Given the description of an element on the screen output the (x, y) to click on. 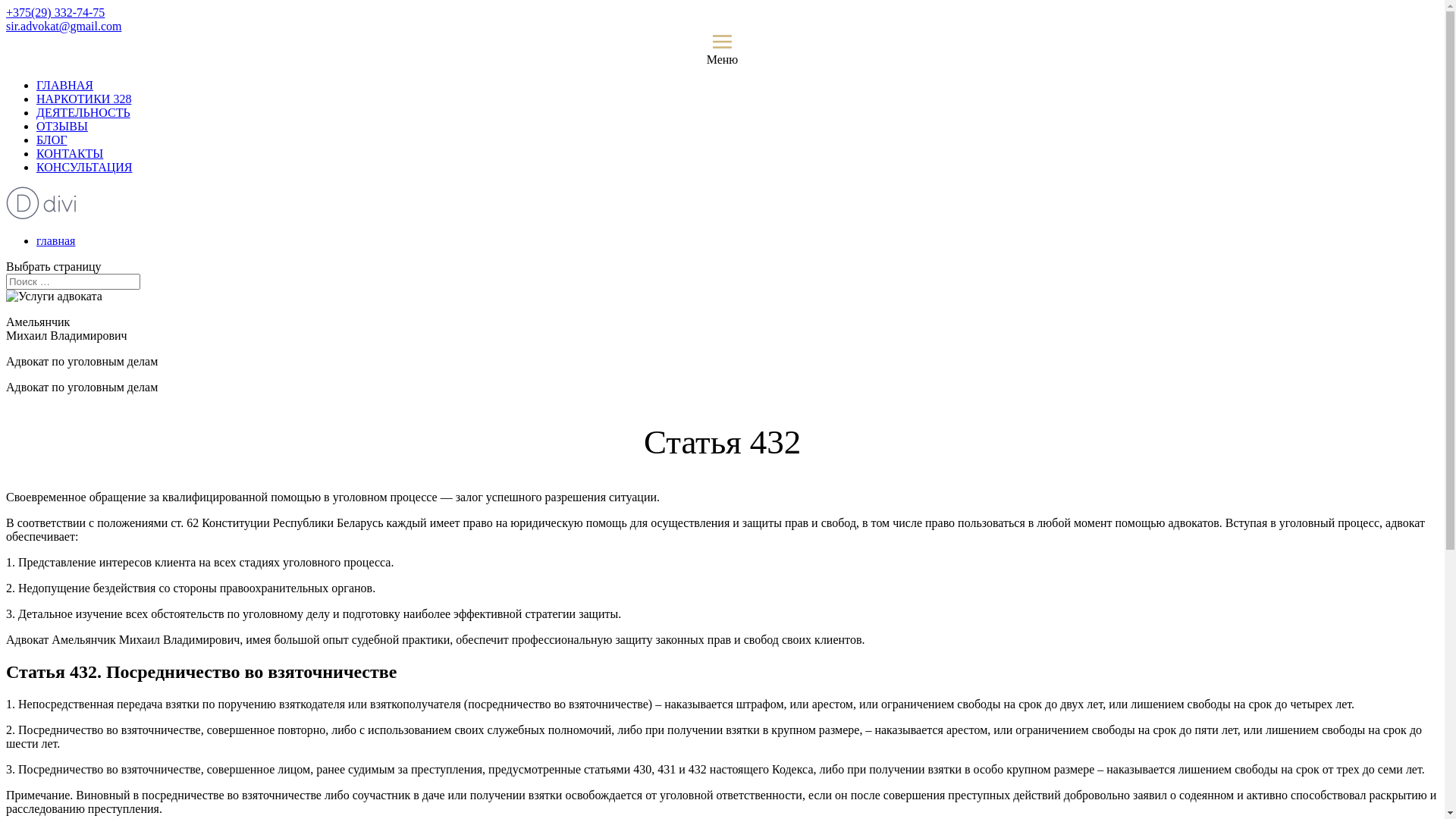
+375(29) 332-74-75 Element type: text (55, 12)
sir.advokat@gmail.com Element type: text (63, 25)
